Given the description of an element on the screen output the (x, y) to click on. 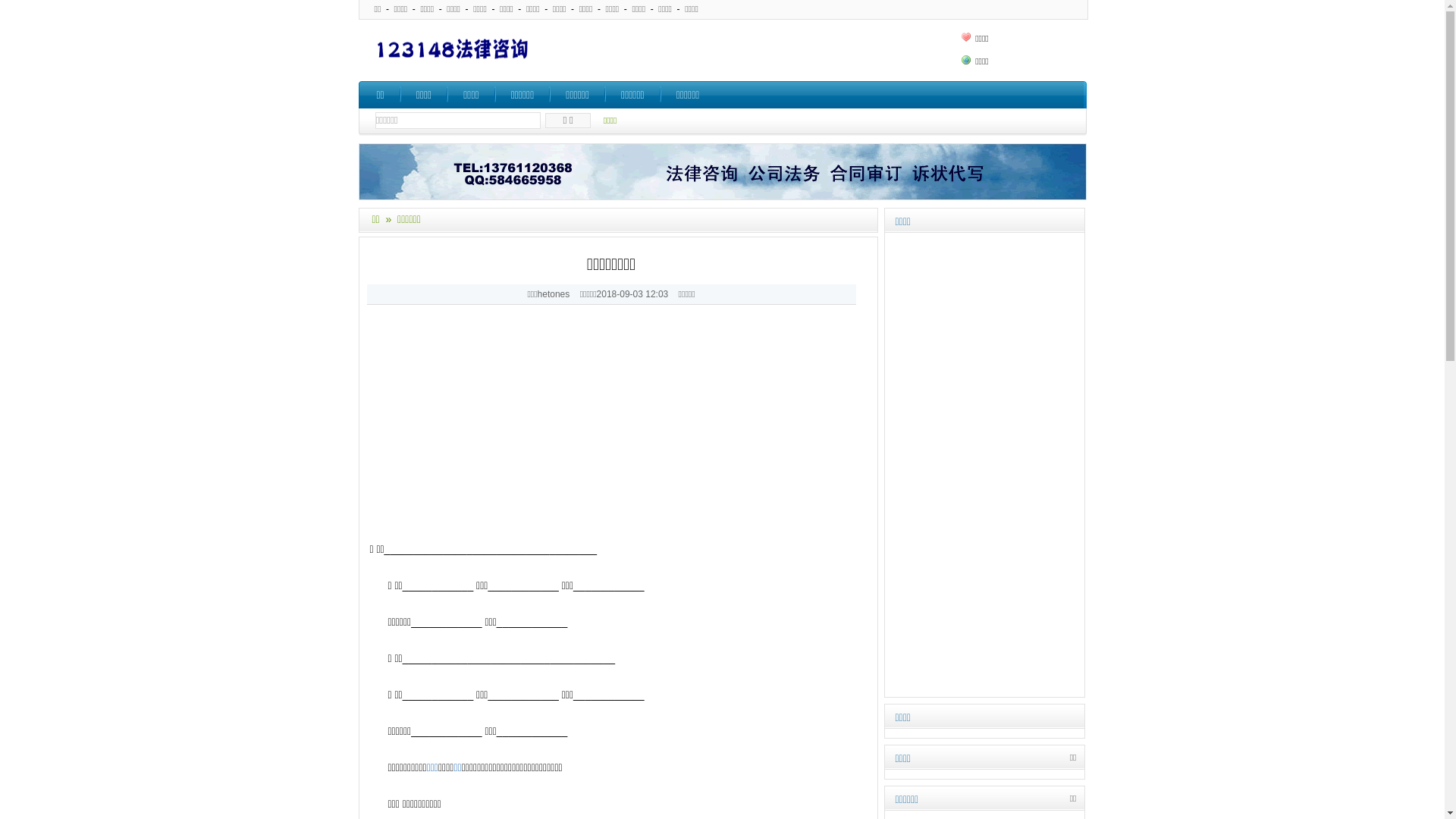
Advertisement Element type: hover (618, 433)
Advertisement Element type: hover (753, 49)
Advertisement Element type: hover (984, 465)
